Given the description of an element on the screen output the (x, y) to click on. 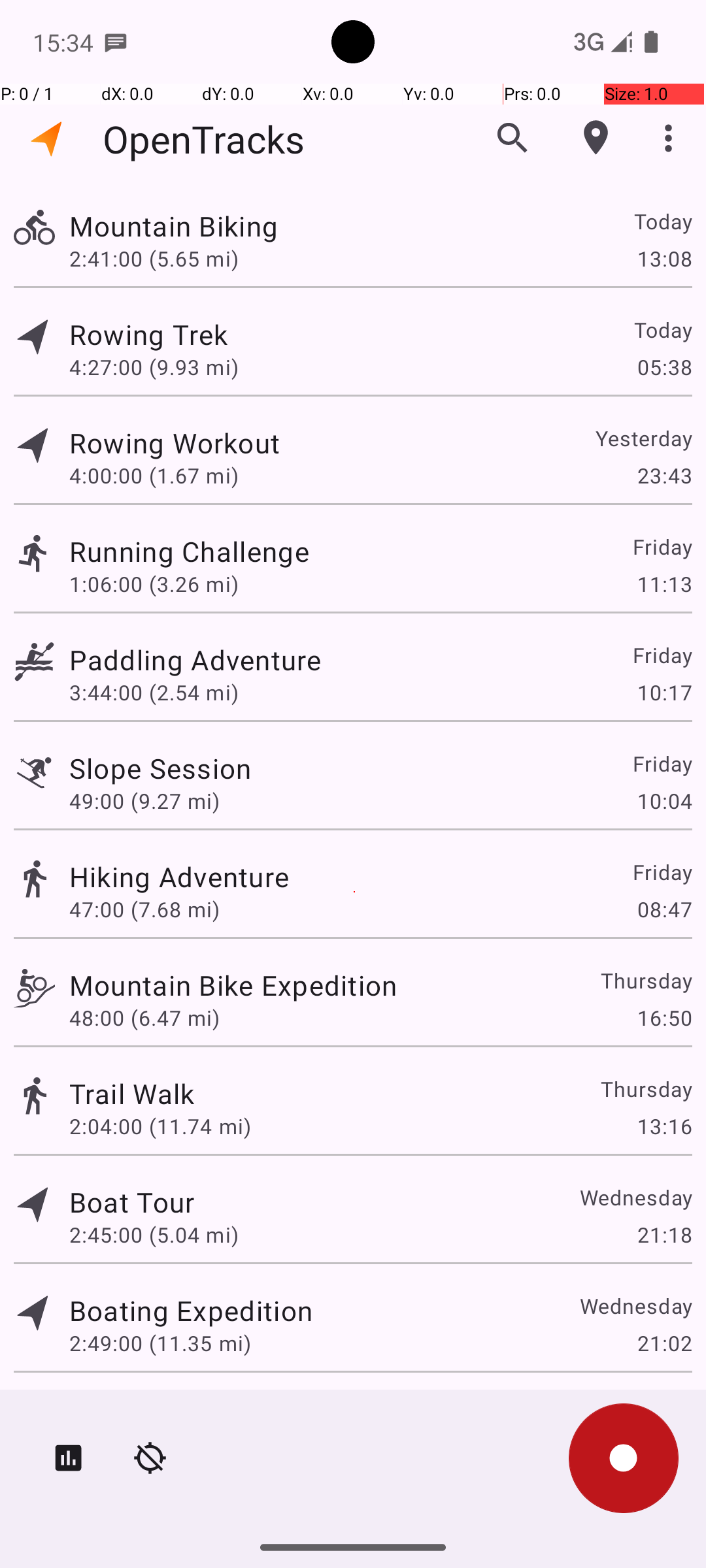
Mountain Biking Element type: android.widget.TextView (173, 225)
2:41:00 (5.65 mi) Element type: android.widget.TextView (153, 258)
13:08 Element type: android.widget.TextView (664, 258)
Rowing Trek Element type: android.widget.TextView (148, 333)
4:27:00 (9.93 mi) Element type: android.widget.TextView (153, 366)
05:38 Element type: android.widget.TextView (664, 366)
Rowing Workout Element type: android.widget.TextView (174, 442)
Yesterday Element type: android.widget.TextView (643, 438)
4:00:00 (1.67 mi) Element type: android.widget.TextView (153, 475)
23:43 Element type: android.widget.TextView (664, 475)
Running Challenge Element type: android.widget.TextView (188, 550)
1:06:00 (3.26 mi) Element type: android.widget.TextView (153, 583)
11:13 Element type: android.widget.TextView (664, 583)
Paddling Adventure Element type: android.widget.TextView (194, 659)
3:44:00 (2.54 mi) Element type: android.widget.TextView (153, 692)
10:17 Element type: android.widget.TextView (664, 692)
Slope Session Element type: android.widget.TextView (160, 767)
49:00 (9.27 mi) Element type: android.widget.TextView (144, 800)
10:04 Element type: android.widget.TextView (664, 800)
Hiking Adventure Element type: android.widget.TextView (178, 876)
47:00 (7.68 mi) Element type: android.widget.TextView (144, 909)
08:47 Element type: android.widget.TextView (664, 909)
Mountain Bike Expedition Element type: android.widget.TextView (233, 984)
Thursday Element type: android.widget.TextView (645, 980)
48:00 (6.47 mi) Element type: android.widget.TextView (144, 1017)
16:50 Element type: android.widget.TextView (664, 1017)
Trail Walk Element type: android.widget.TextView (131, 1092)
2:04:00 (11.74 mi) Element type: android.widget.TextView (159, 1125)
13:16 Element type: android.widget.TextView (664, 1125)
Boat Tour Element type: android.widget.TextView (131, 1201)
Wednesday Element type: android.widget.TextView (635, 1197)
2:45:00 (5.04 mi) Element type: android.widget.TextView (153, 1234)
21:18 Element type: android.widget.TextView (664, 1234)
Boating Expedition Element type: android.widget.TextView (190, 1309)
2:49:00 (11.35 mi) Element type: android.widget.TextView (159, 1342)
21:02 Element type: android.widget.TextView (664, 1342)
Cycle Trip Element type: android.widget.TextView (132, 1408)
Tuesday Element type: android.widget.TextView (650, 1408)
